Given the description of an element on the screen output the (x, y) to click on. 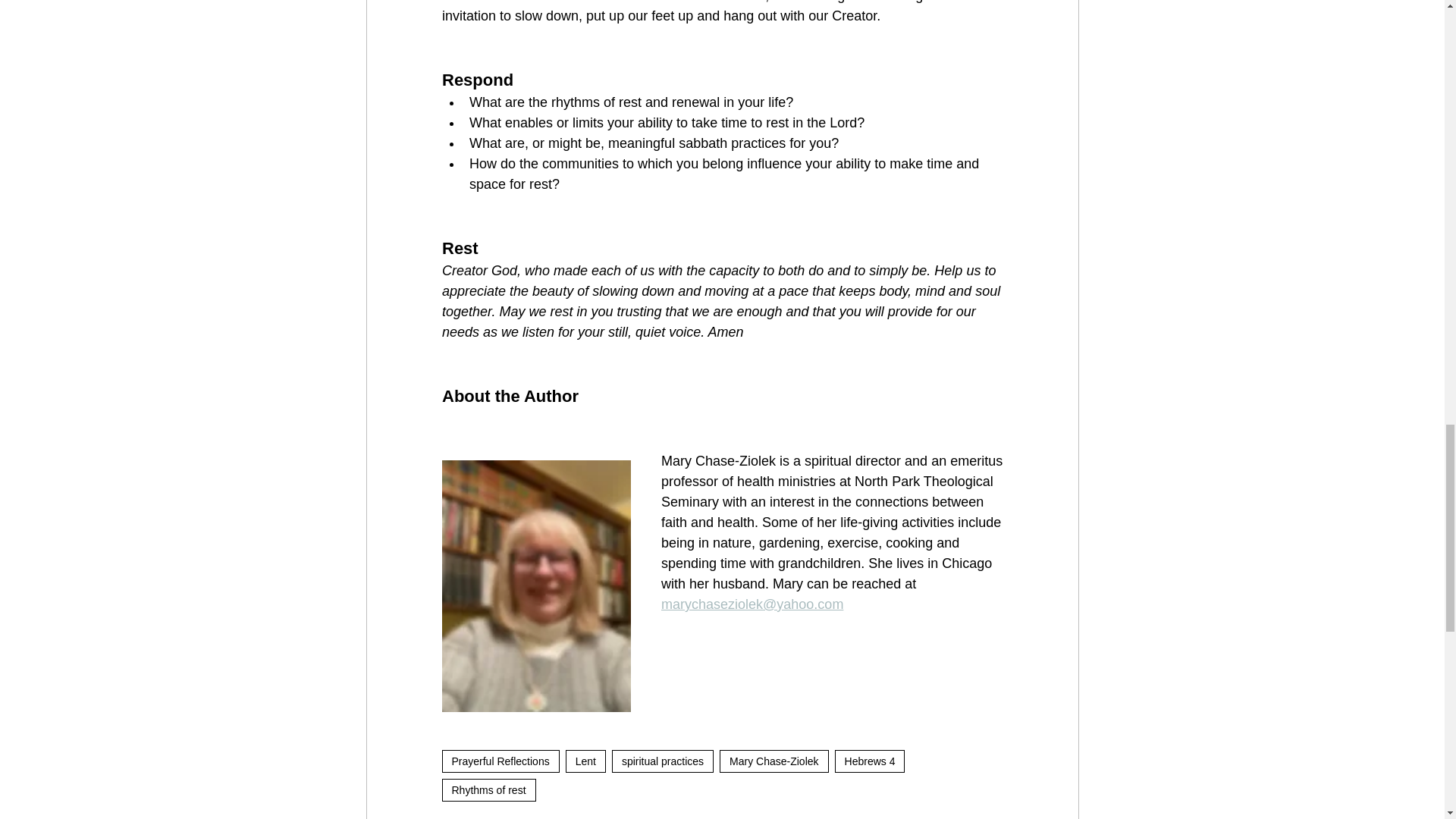
spiritual practices (662, 761)
Lent (585, 761)
Hebrews 4 (869, 761)
Rhythms of rest (488, 789)
Mary Chase-Ziolek (773, 761)
Prayerful Reflections (500, 761)
